Given the description of an element on the screen output the (x, y) to click on. 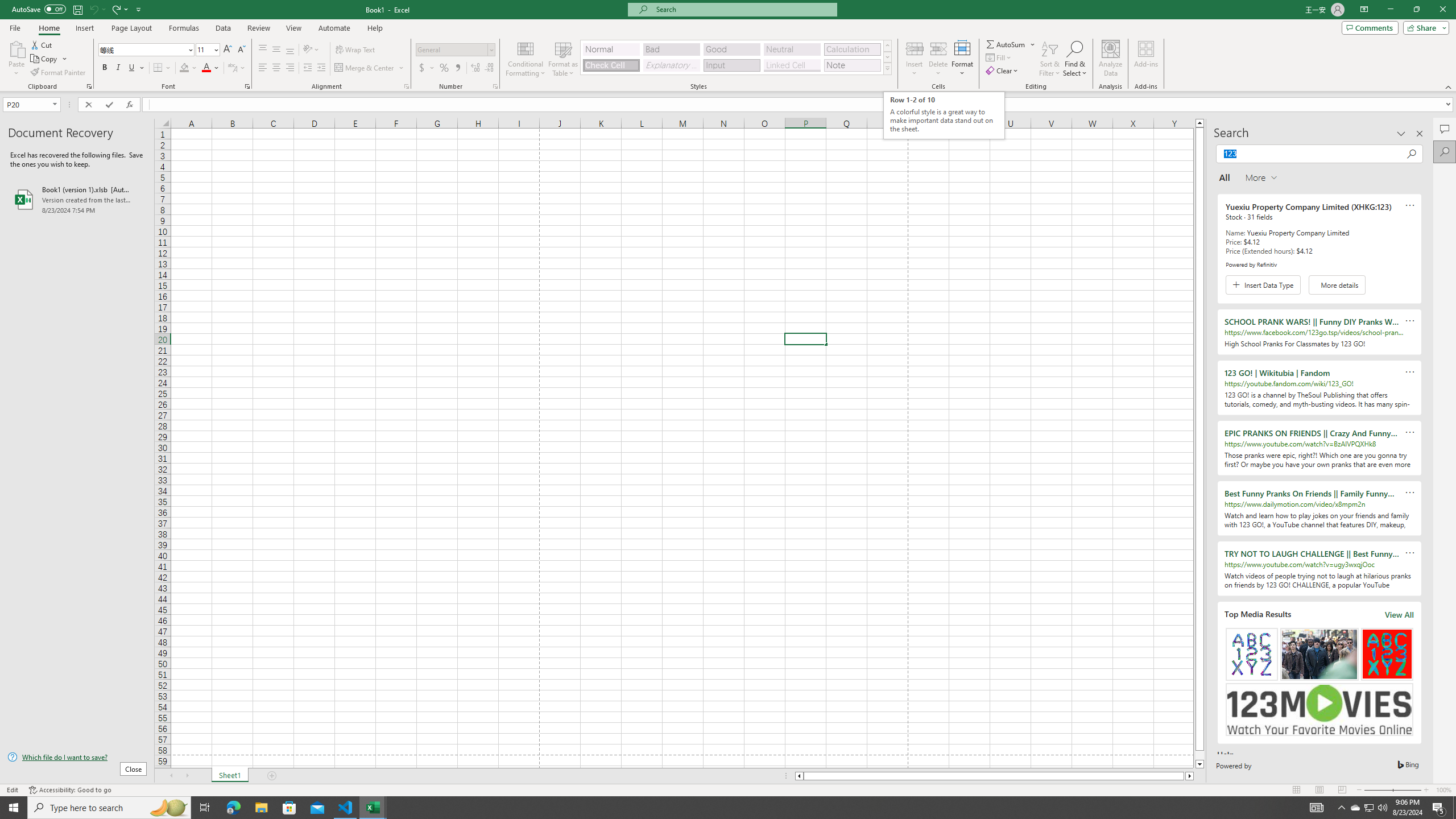
Cut (42, 44)
AutoSum (1011, 44)
Underline (136, 67)
Bottom Border (157, 67)
Accounting Number Format (422, 67)
Decrease Decimal (489, 67)
Copy (49, 58)
Font Size (207, 49)
